Given the description of an element on the screen output the (x, y) to click on. 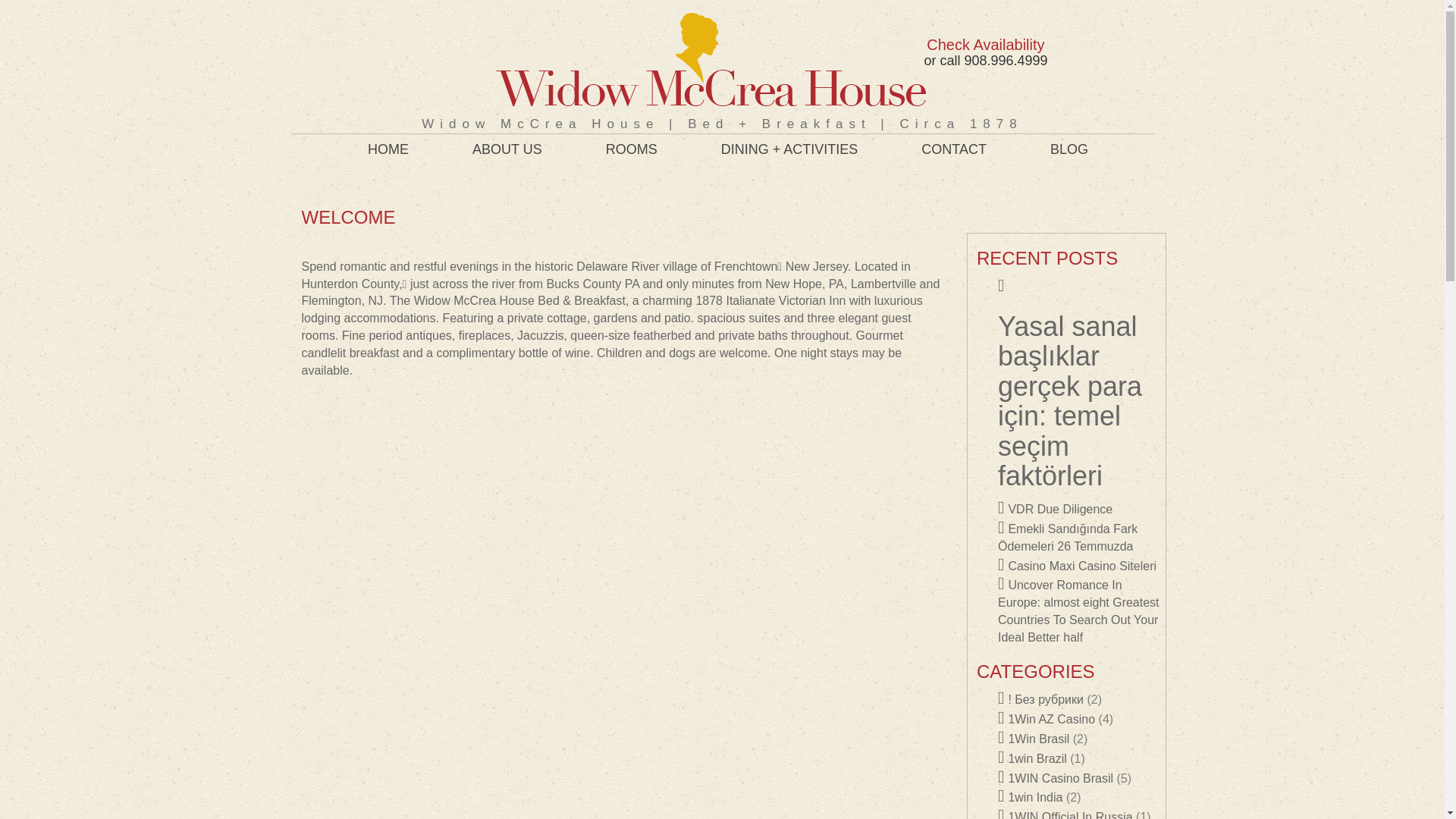
Check Availability (984, 44)
ABOUT US (507, 149)
BLOG (1069, 149)
1WIN Casino Brasil (1055, 778)
1Win AZ Casino (1045, 718)
1win India (1029, 797)
VDR Due Diligence (1054, 508)
ROOMS (631, 149)
CONTACT (953, 149)
1win Brazil (1032, 758)
1Win Brasil (1032, 738)
HOME (387, 149)
Casino Maxi Casino Siteleri (1076, 565)
1WIN Official In Russia (1064, 814)
